Given the description of an element on the screen output the (x, y) to click on. 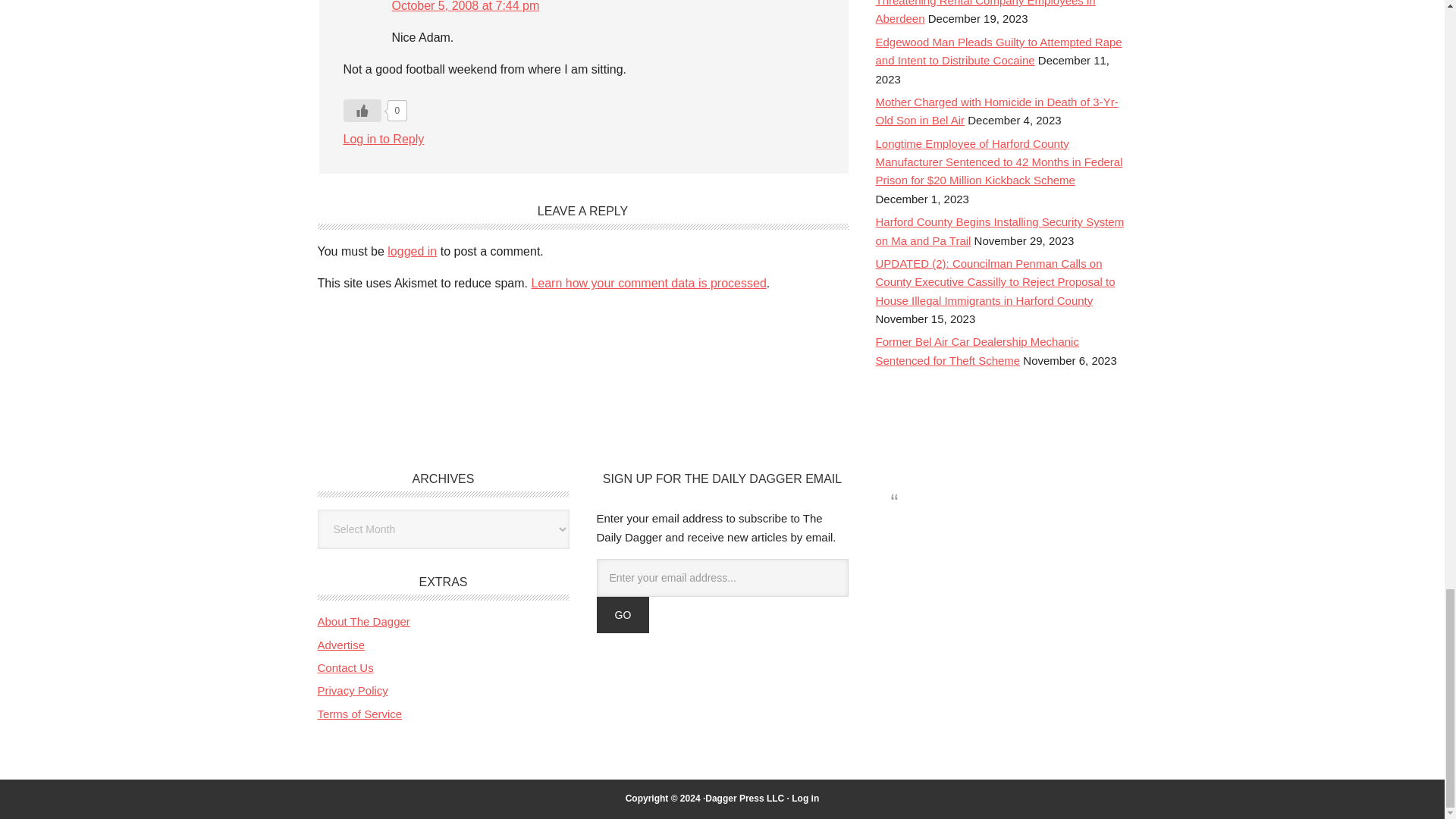
Learn how your comment data is processed (648, 282)
Go (622, 615)
Log in to Reply (382, 138)
October 5, 2008 at 7:44 pm (464, 6)
logged in (411, 250)
